Given the description of an element on the screen output the (x, y) to click on. 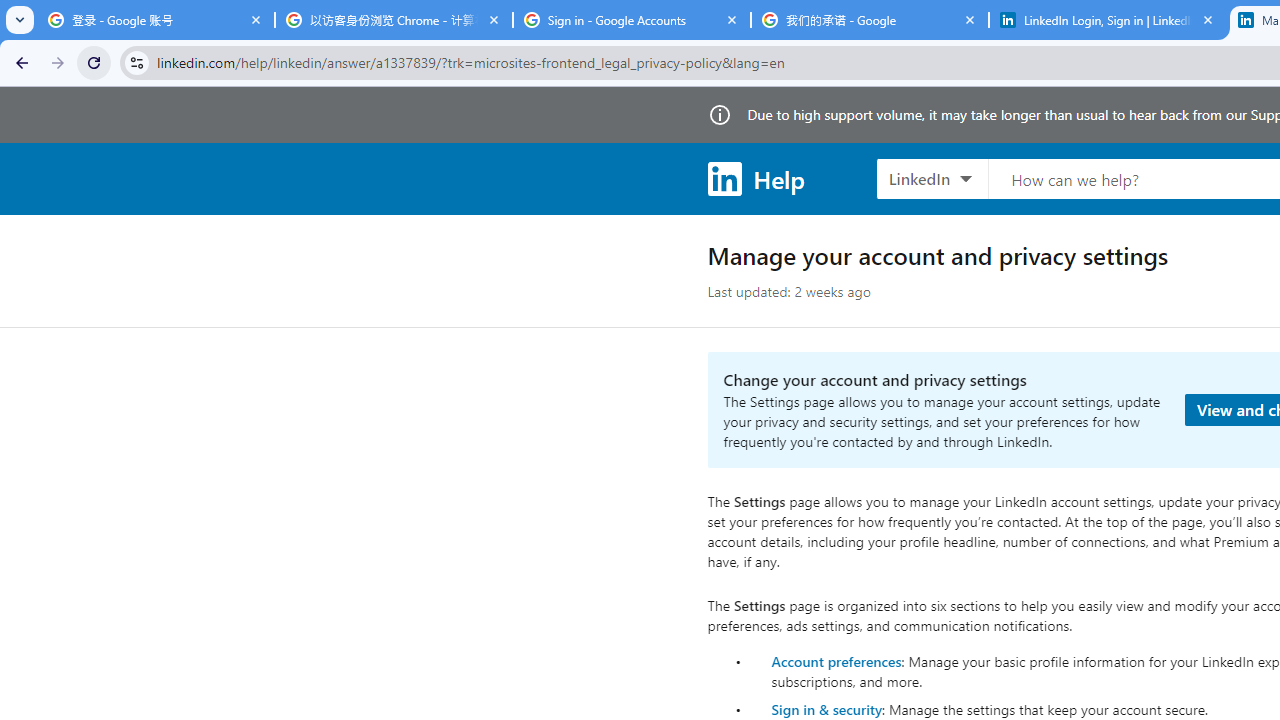
LinkedIn Login, Sign in | LinkedIn (1108, 20)
Account preferences (836, 660)
Help (755, 178)
Sign in - Google Accounts (632, 20)
LinkedIn products to search, LinkedIn selected (932, 178)
Sign in & security (826, 709)
